Given the description of an element on the screen output the (x, y) to click on. 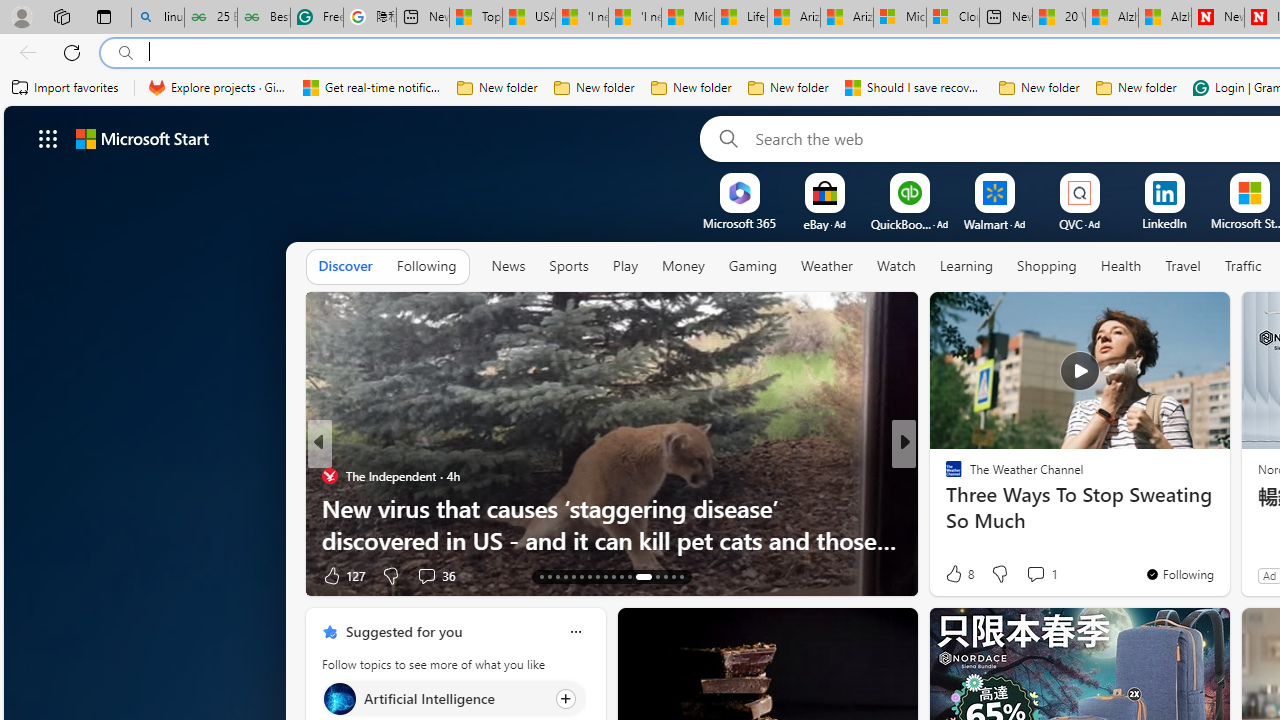
Microsoft start (142, 138)
Wealth of Geeks (944, 475)
AutomationID: tab-26 (656, 576)
Body Network (944, 507)
222 Like (959, 574)
AutomationID: tab-14 (549, 576)
